Given the description of an element on the screen output the (x, y) to click on. 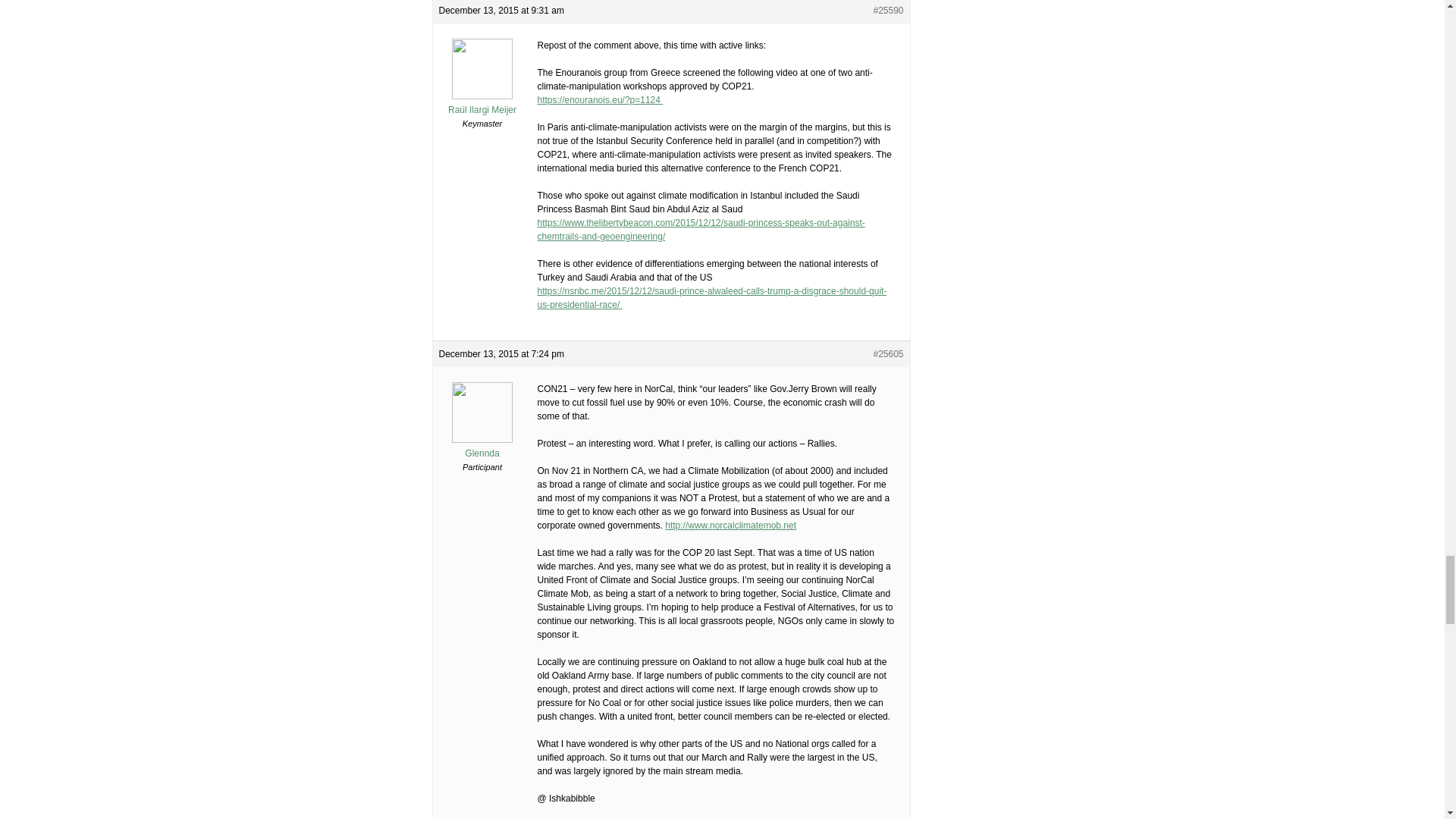
View Glennda's profile (481, 447)
